Given the description of an element on the screen output the (x, y) to click on. 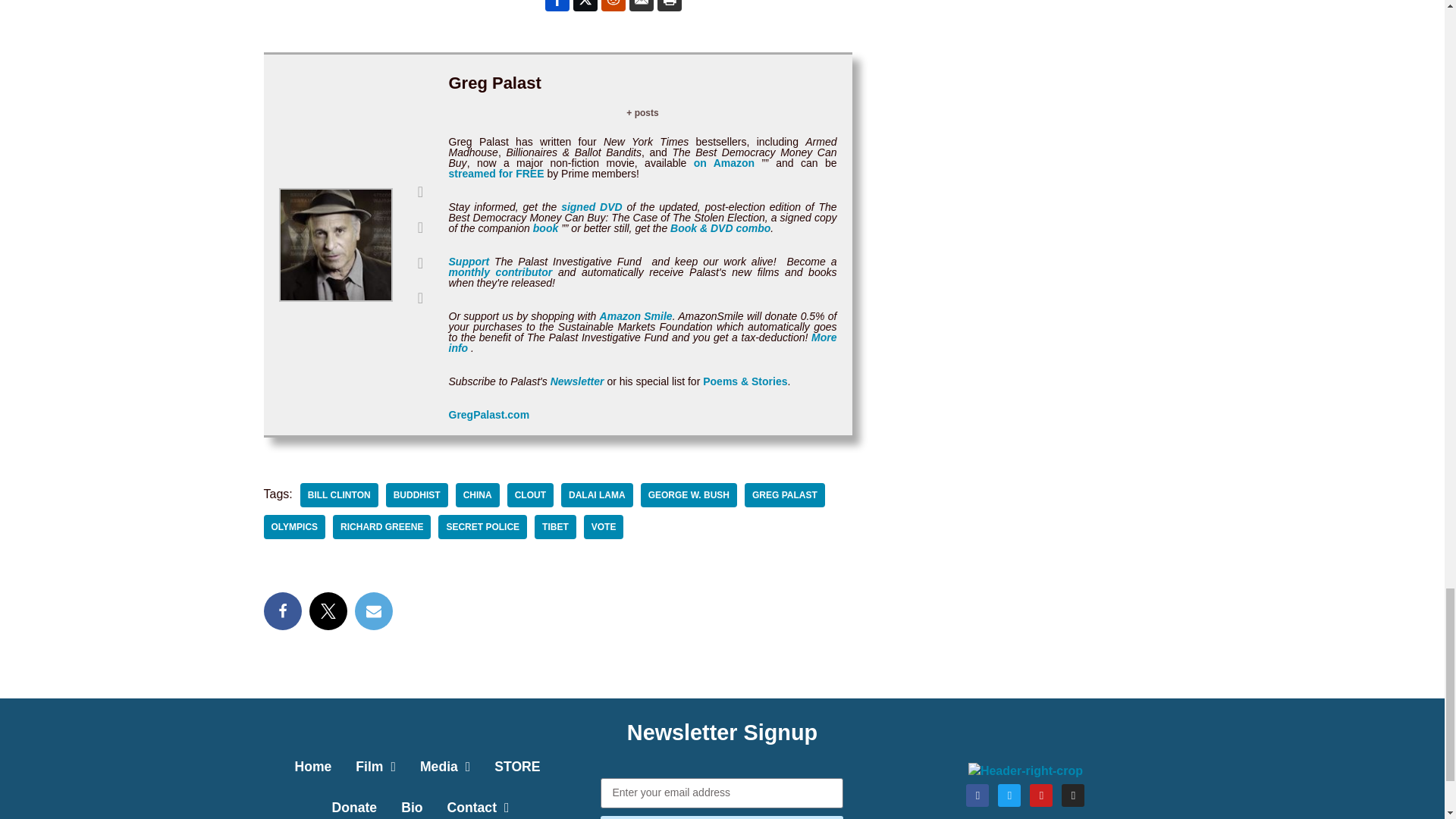
Richard Greene (381, 526)
clout (529, 494)
George W. Bush (688, 494)
buddhist (416, 494)
China (477, 494)
Dalai Lama (596, 494)
Share on Print (669, 5)
Share on Twitter (584, 5)
Bill Clinton (338, 494)
Share on Email (640, 5)
Olympics (294, 526)
Greg Palast (784, 494)
Share on Reddit (613, 5)
Share on Facebook (556, 5)
